Given the description of an element on the screen output the (x, y) to click on. 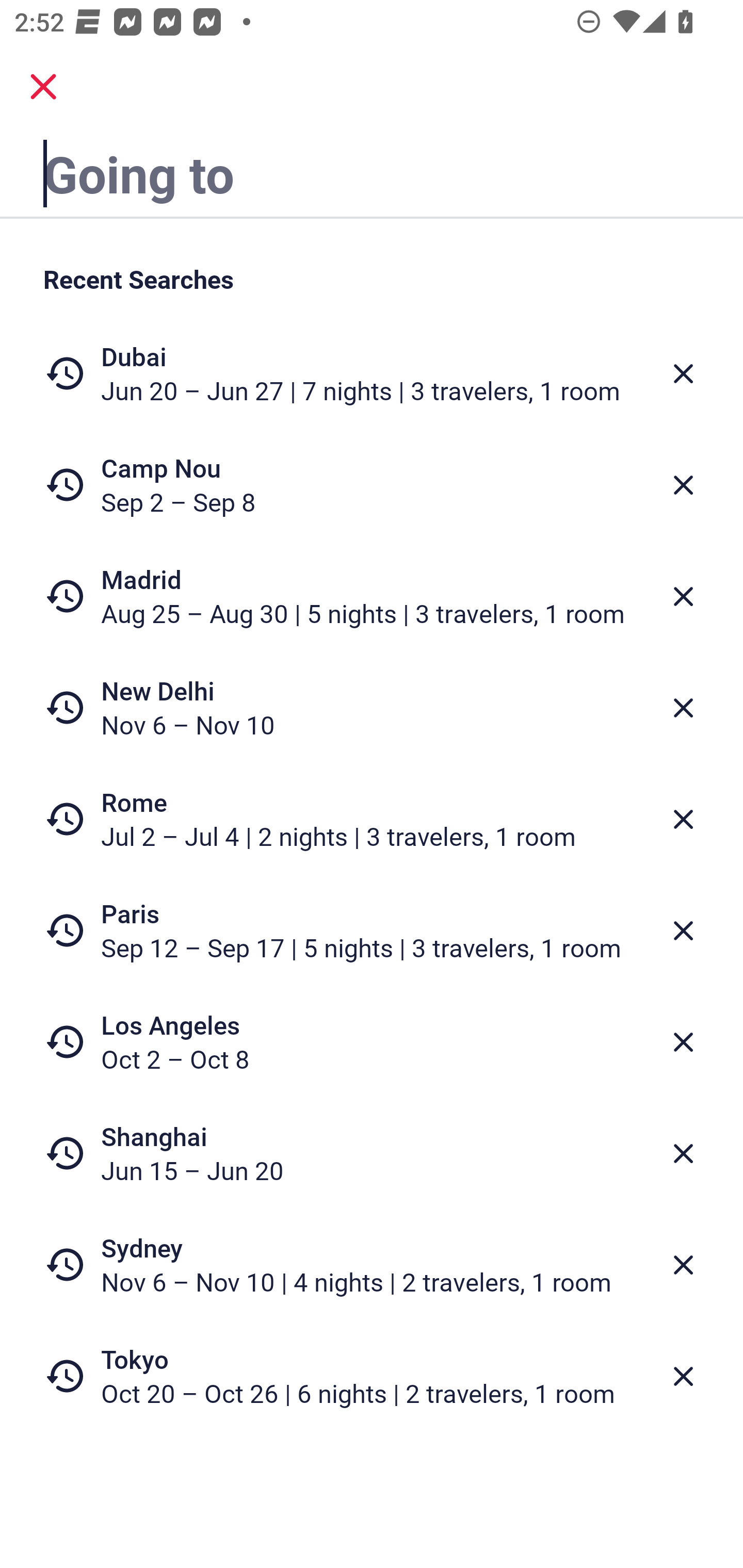
close. (43, 86)
Delete from recent searches (683, 373)
Camp Nou Sep 2 – Sep 8 (371, 484)
Delete from recent searches (683, 485)
Delete from recent searches (683, 596)
New Delhi Nov 6 – Nov 10 (371, 707)
Delete from recent searches (683, 707)
Delete from recent searches (683, 819)
Delete from recent searches (683, 930)
Los Angeles Oct 2 – Oct 8 (371, 1041)
Delete from recent searches (683, 1041)
Shanghai Jun 15 – Jun 20 (371, 1152)
Delete from recent searches (683, 1153)
Delete from recent searches (683, 1265)
Delete from recent searches (683, 1376)
